Given the description of an element on the screen output the (x, y) to click on. 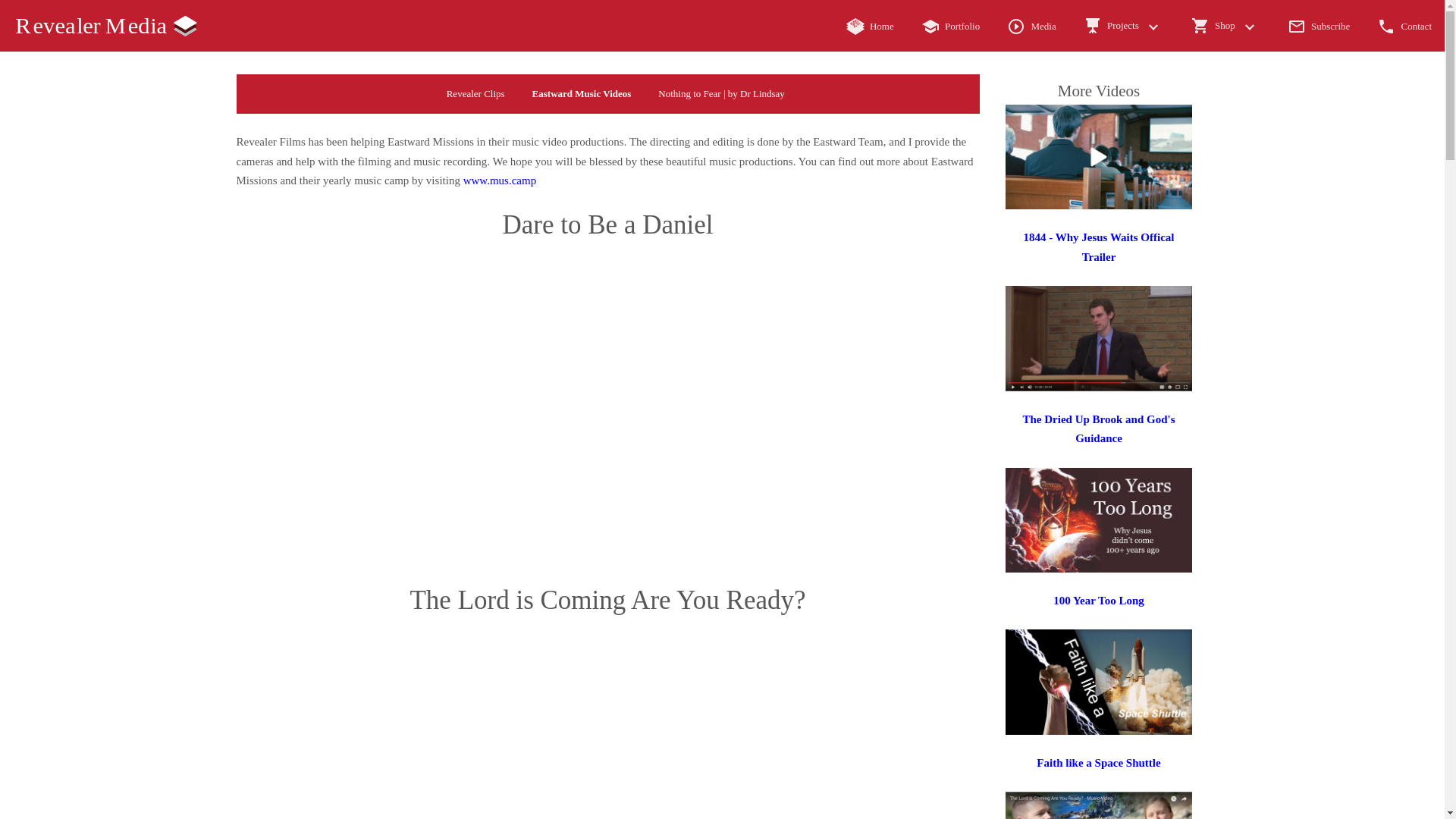
Revealer Media (105, 26)
Shop (1225, 25)
Projects (1123, 25)
The Dried Up Brook and God's Guidance (1099, 387)
Eastward Music Videos (581, 93)
Revealer Clips (475, 93)
Subscribe (1319, 25)
Faith Like a Space Shuttle (1099, 730)
The Dried Up Brook and God's Guidance (1098, 429)
Portfolio (949, 25)
